Given the description of an element on the screen output the (x, y) to click on. 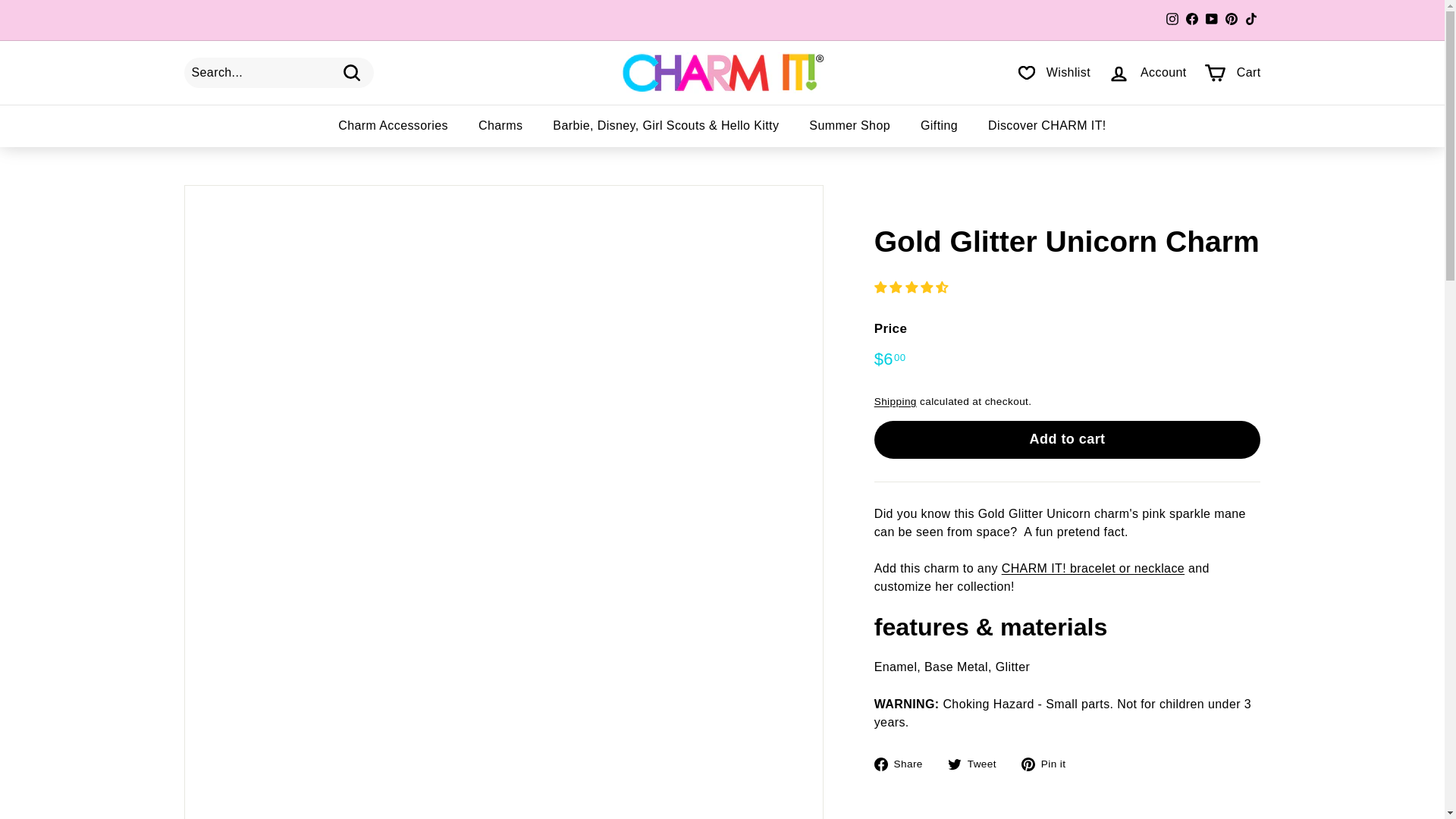
Pinterest (1230, 20)
Charm Accessories (393, 125)
Account (1147, 72)
CHARM IT! on Instagram (1170, 20)
Instagram (1170, 20)
Wishlist (1054, 72)
CHARM IT! on TikTok (1250, 20)
CHARM IT! on Pinterest (1230, 20)
Facebook (1190, 20)
CHARM IT! on YouTube (1211, 20)
YouTube (1211, 20)
Charms (500, 125)
Wishlist (1054, 72)
TikTok (1250, 20)
